Given the description of an element on the screen output the (x, y) to click on. 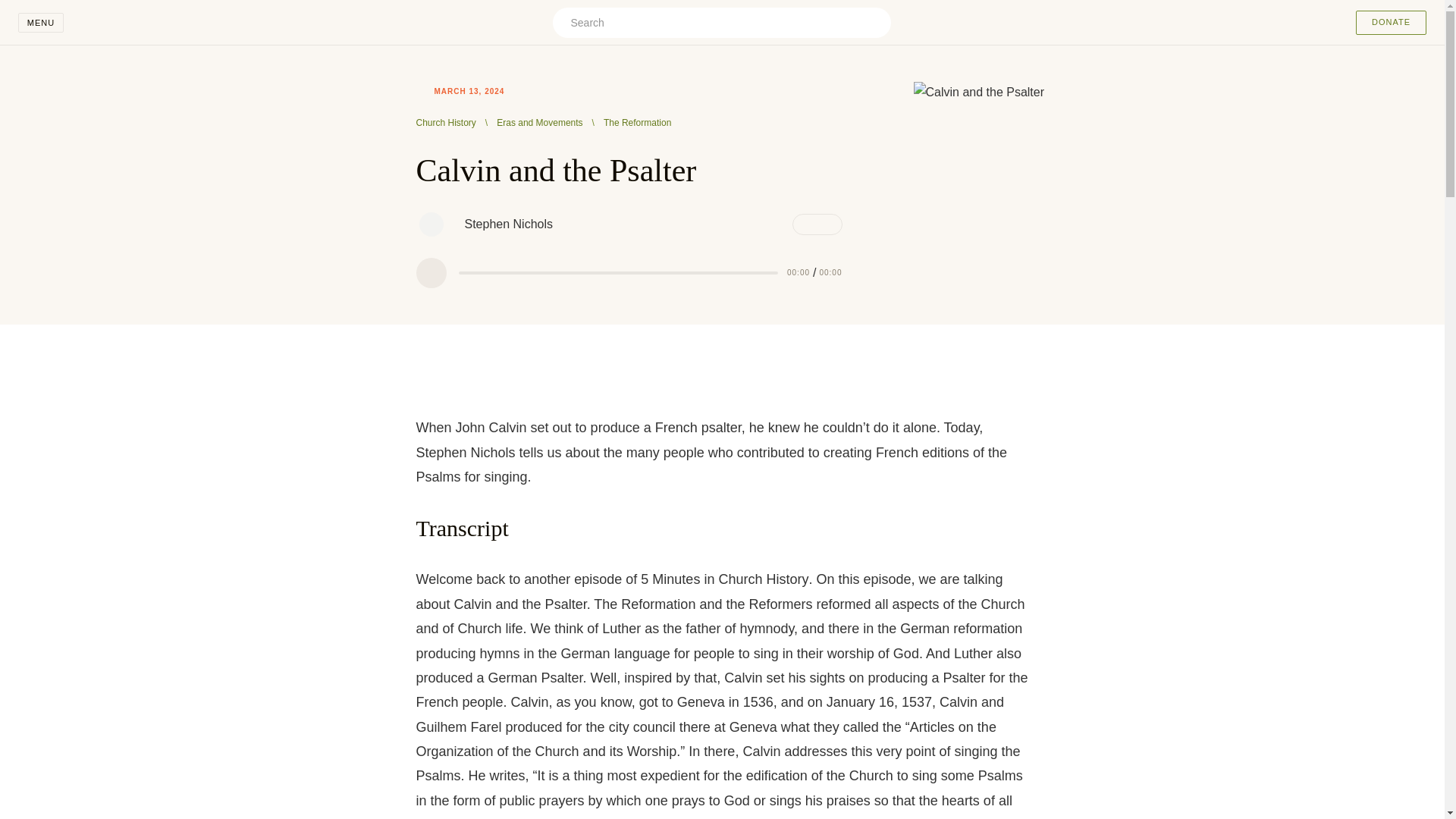
DONATE (1390, 22)
MENU (40, 22)
Stephen Nichols (429, 224)
